Given the description of an element on the screen output the (x, y) to click on. 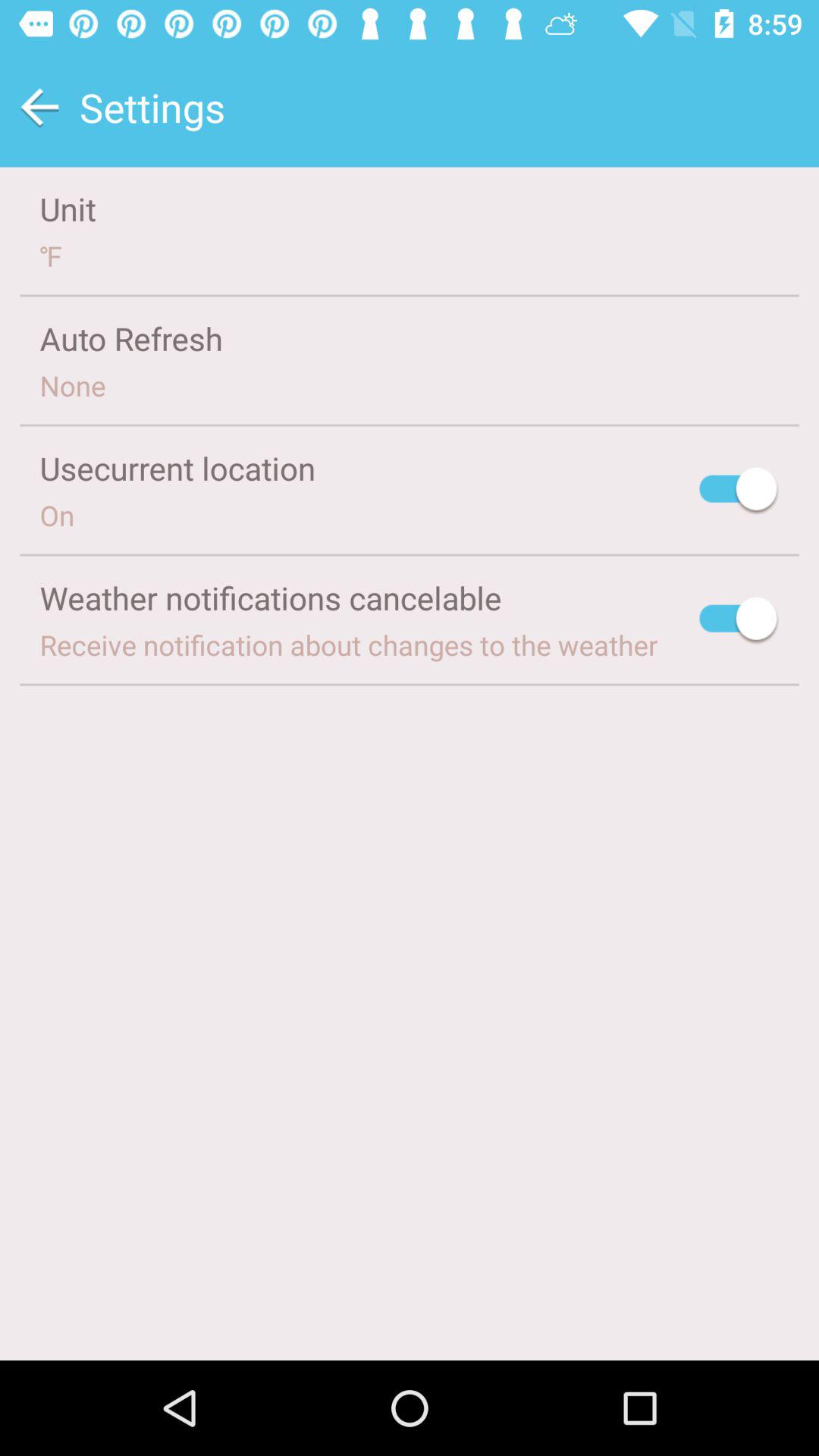
turn off notifications (739, 620)
